Given the description of an element on the screen output the (x, y) to click on. 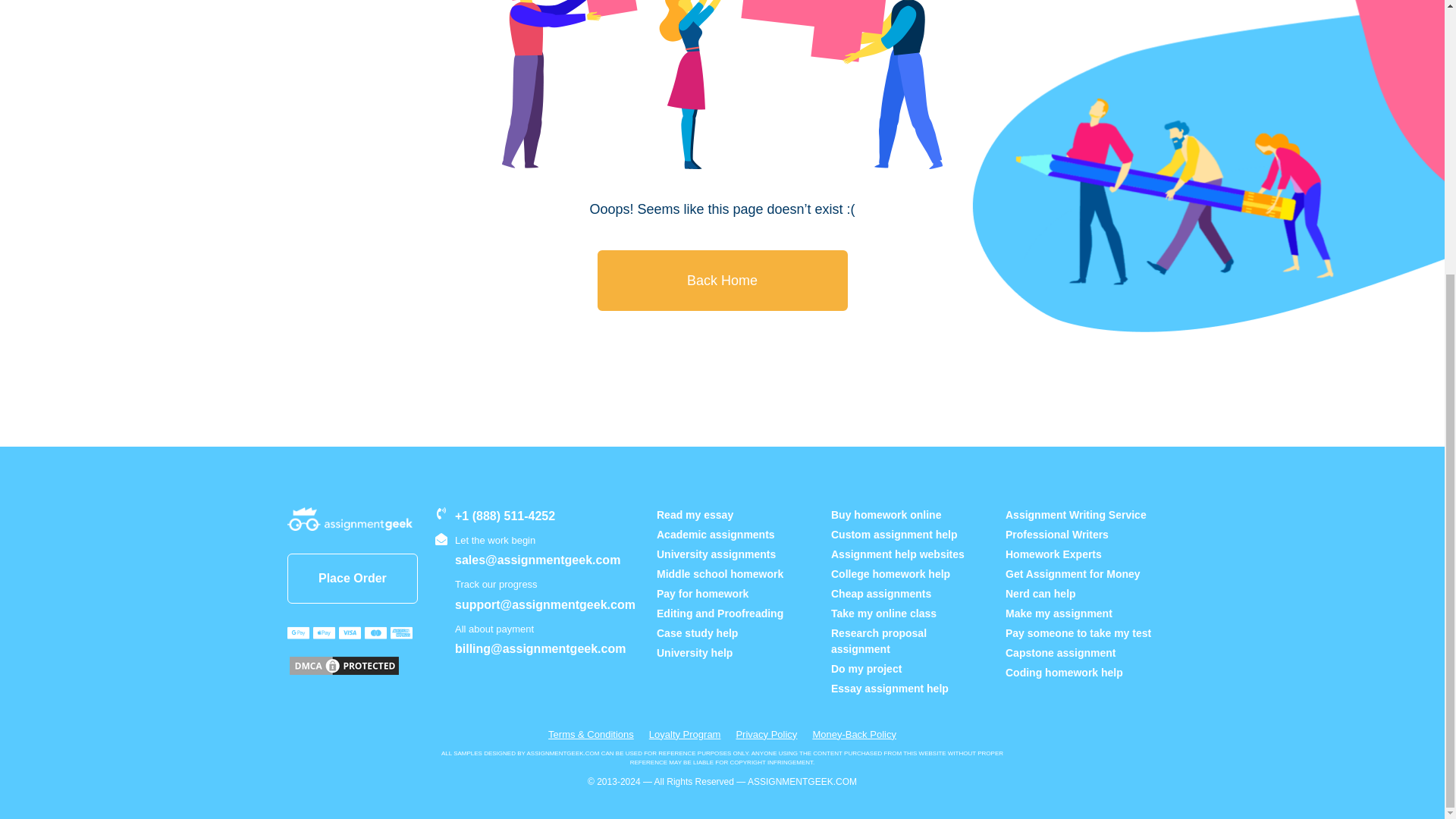
DMCA.com Protection Status (343, 665)
